Given the description of an element on the screen output the (x, y) to click on. 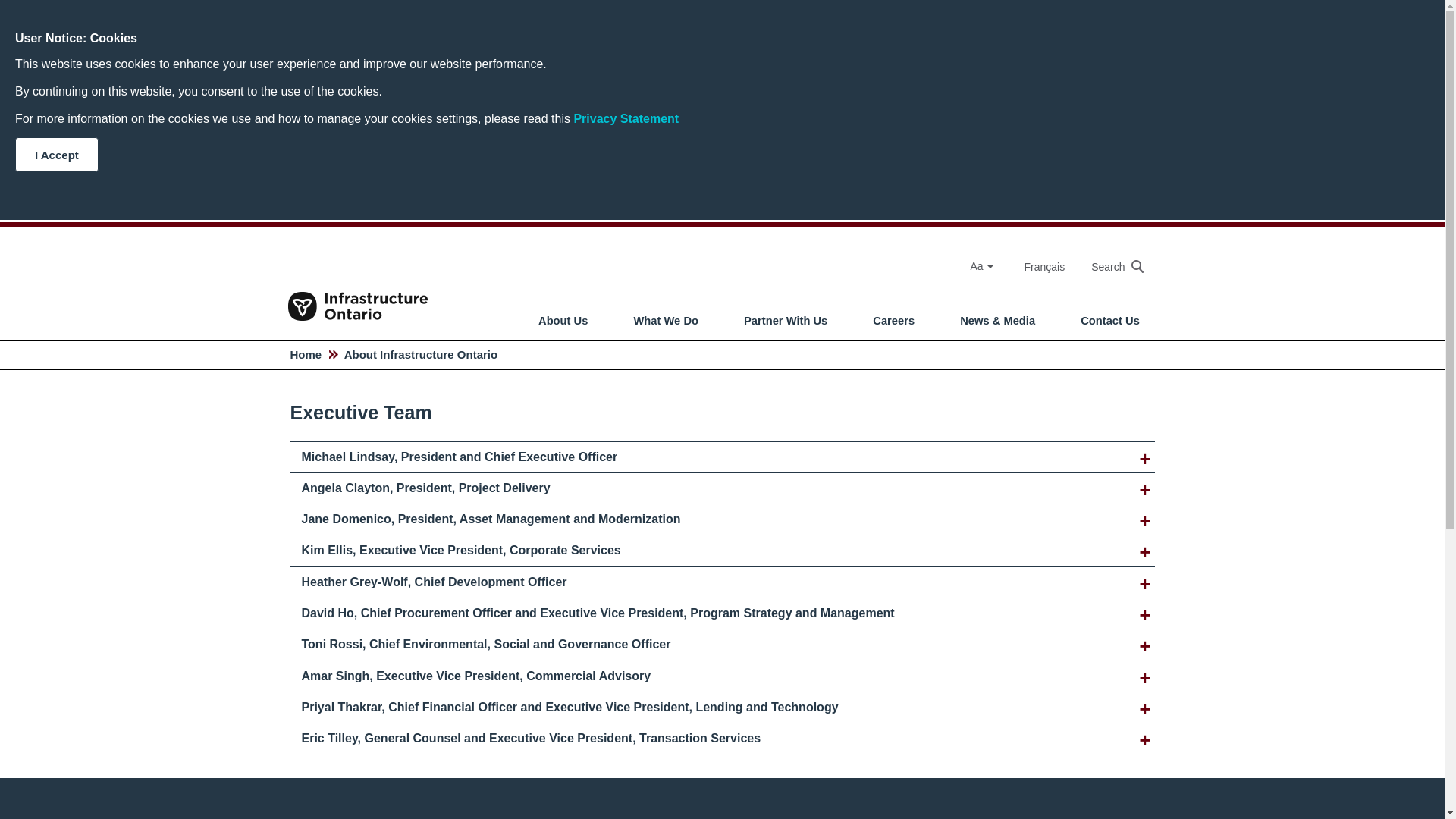
Infrastructure Ontario logo (358, 289)
I Accept (56, 154)
Open Main Menu (733, 280)
About Us (562, 319)
Search (1108, 266)
Privacy Statement (625, 118)
Aa (989, 266)
